Given the description of an element on the screen output the (x, y) to click on. 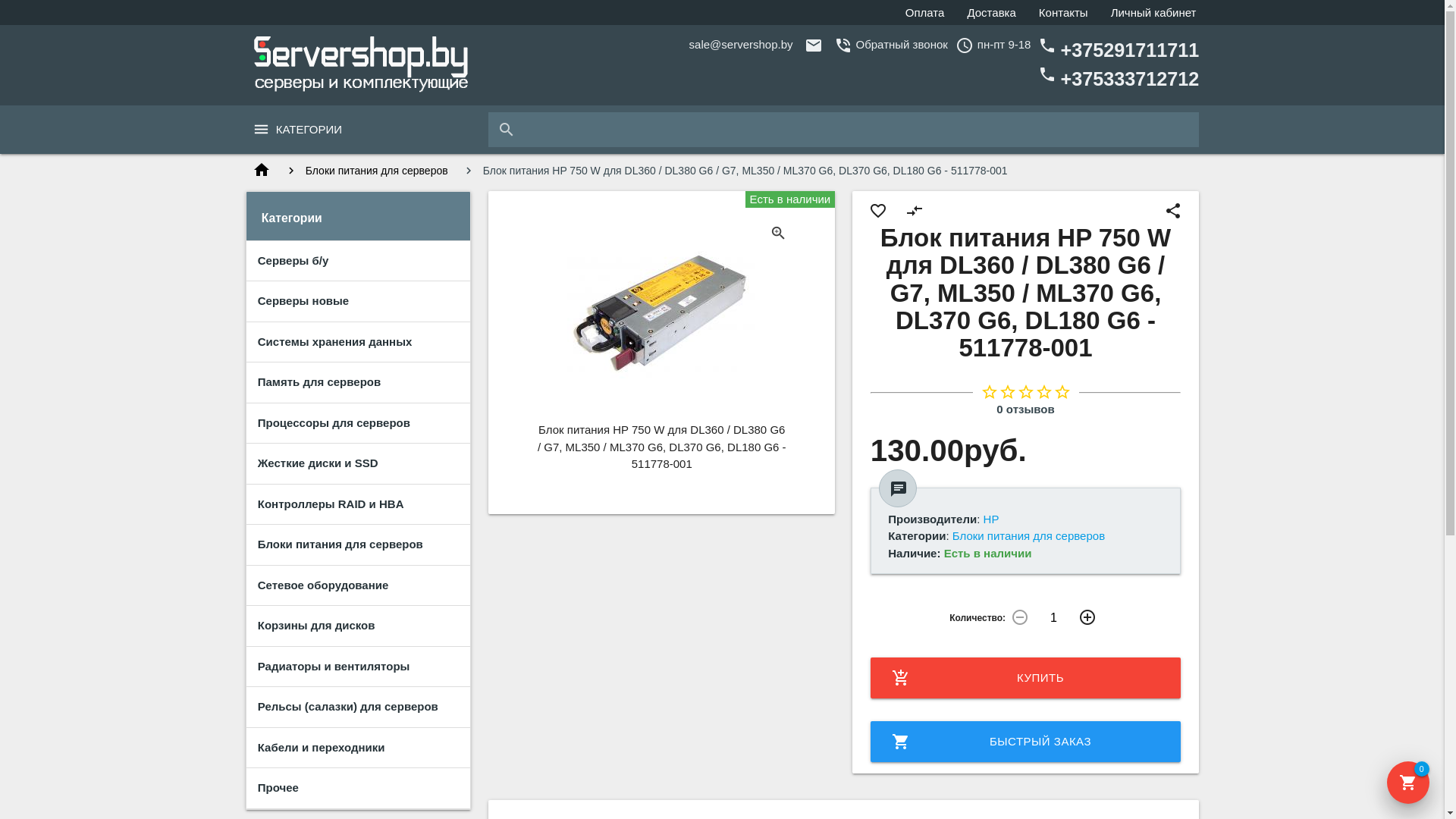
phone
+375291711711 Element type: text (1118, 50)
HP Element type: text (991, 518)
home Element type: text (261, 170)
email
sale@servershop.by Element type: text (741, 43)
shopping_cart
0 Element type: text (1407, 782)
phone
+375333712712 Element type: text (1118, 79)
compare_arrows Element type: text (914, 210)
favorite_border Element type: text (877, 210)
